Given the description of an element on the screen output the (x, y) to click on. 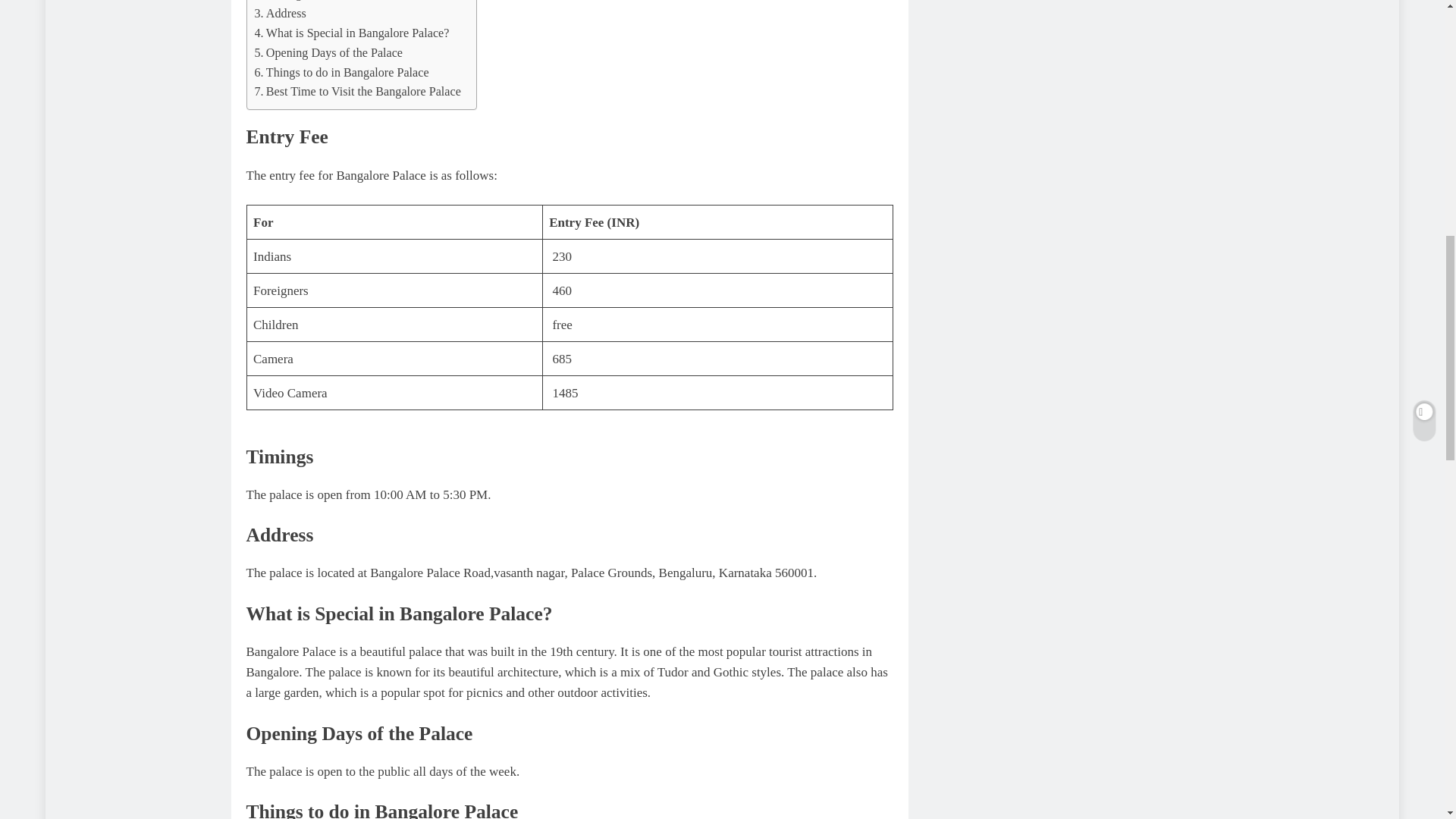
Opening Days of the Palace (328, 53)
Things to do in Bangalore Palace (341, 72)
Timings (280, 2)
Timings (280, 2)
What is Special in Bangalore Palace? (351, 33)
Best Time to Visit the Bangalore Palace (357, 91)
Things to do in Bangalore Palace (341, 72)
Best Time to Visit the Bangalore Palace (357, 91)
Address (279, 13)
Opening Days of the Palace (328, 53)
